Given the description of an element on the screen output the (x, y) to click on. 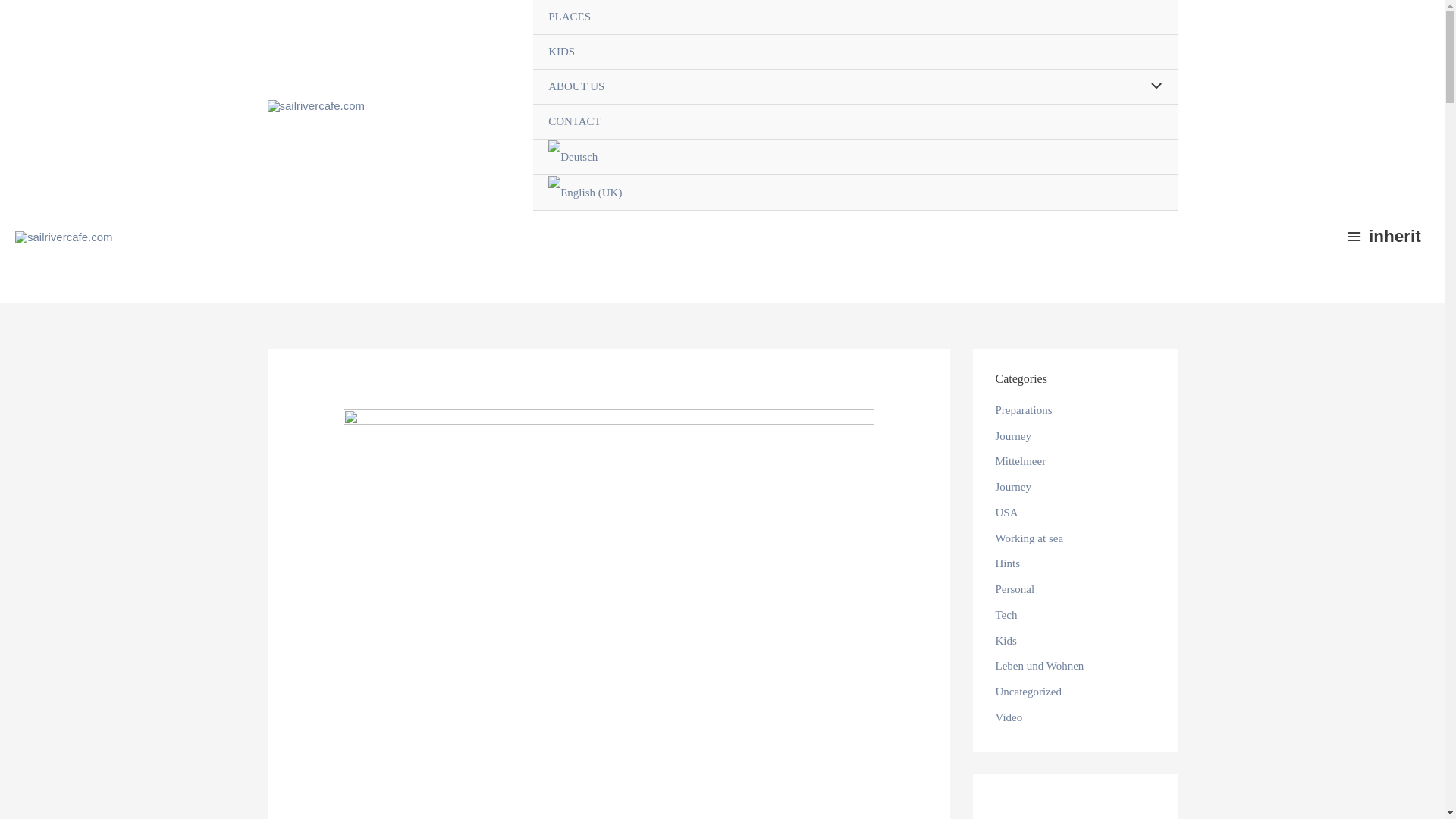
Leben und Wohnen (1038, 665)
Mittelmeer (1019, 460)
Kids (1005, 640)
Video (1008, 717)
ABOUT US (854, 86)
Personal (1013, 589)
Tech (1005, 614)
Working at sea (1028, 538)
Preparations (1022, 410)
Uncategorized (1027, 691)
